Given the description of an element on the screen output the (x, y) to click on. 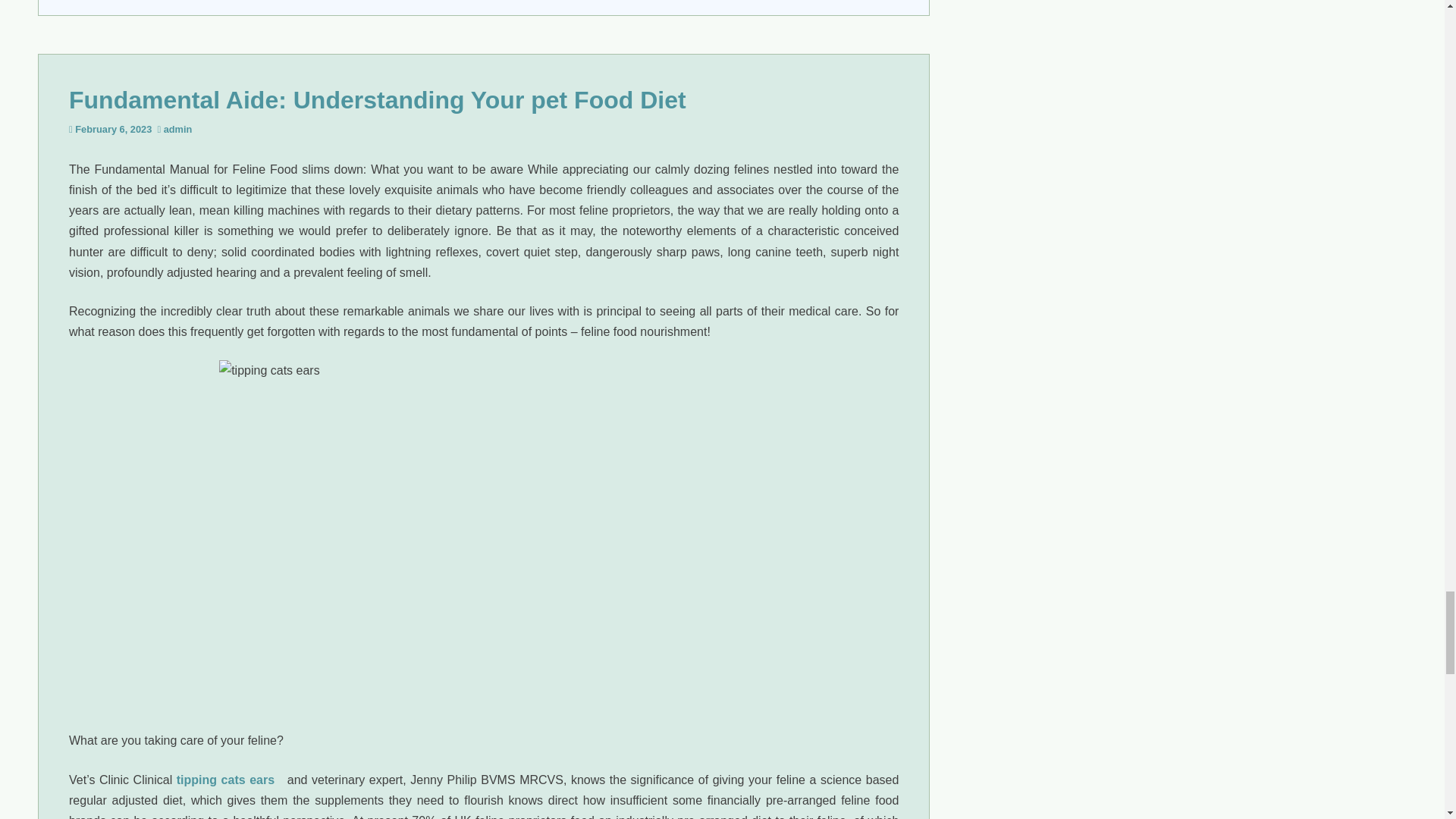
admin (177, 129)
Fundamental Aide: Understanding Your pet Food Diet (376, 99)
February 6, 2023 (113, 129)
tipping cats ears (225, 779)
